Given the description of an element on the screen output the (x, y) to click on. 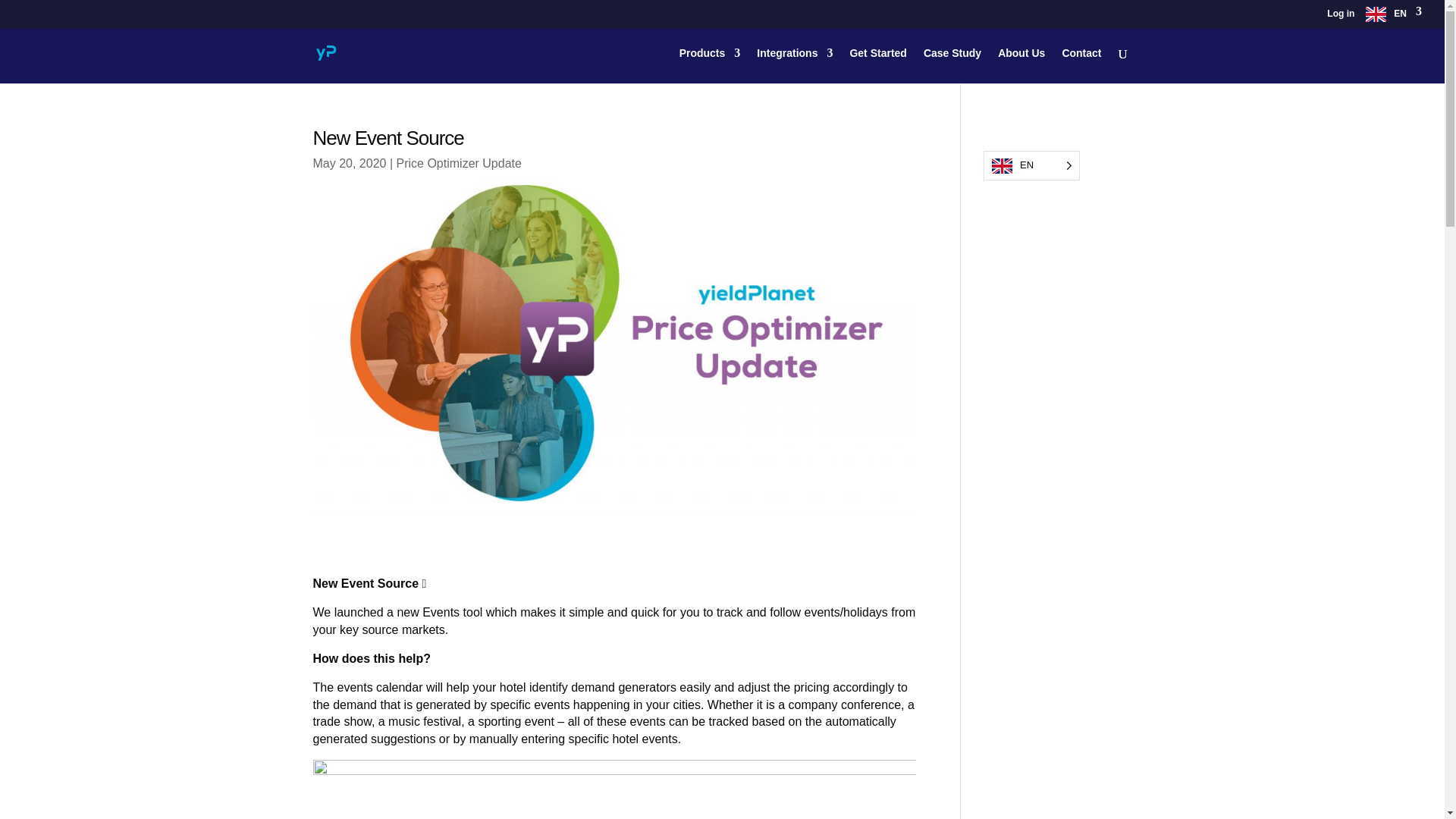
Log in (1340, 17)
Products (710, 65)
Get Started (876, 65)
English (1393, 17)
EN (1393, 17)
About Us (1021, 65)
Case Study (952, 65)
Integrations (794, 65)
Price Optimizer Update (458, 163)
